Given the description of an element on the screen output the (x, y) to click on. 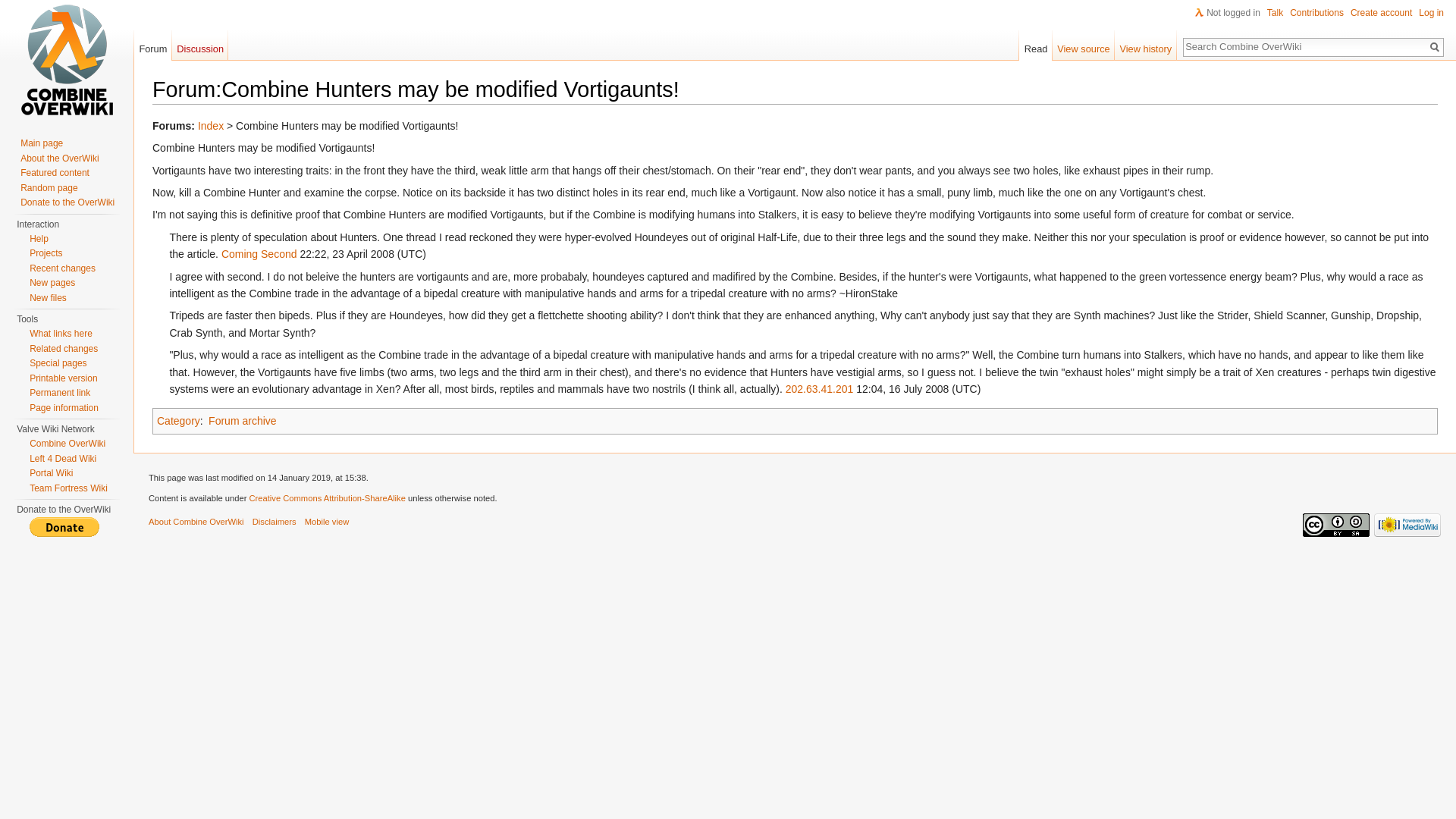
Category:Forum archive (242, 420)
Permanent link (59, 392)
New files (47, 297)
Create account (1381, 12)
The place to find out (38, 238)
Log in (1431, 12)
Forum archive (242, 420)
Coming Second (259, 254)
Contributions (1316, 12)
Page information (64, 407)
Projects (45, 253)
Go (1434, 46)
Recent changes (62, 267)
Forum (152, 45)
Left 4 Dead Wiki (62, 458)
